Given the description of an element on the screen output the (x, y) to click on. 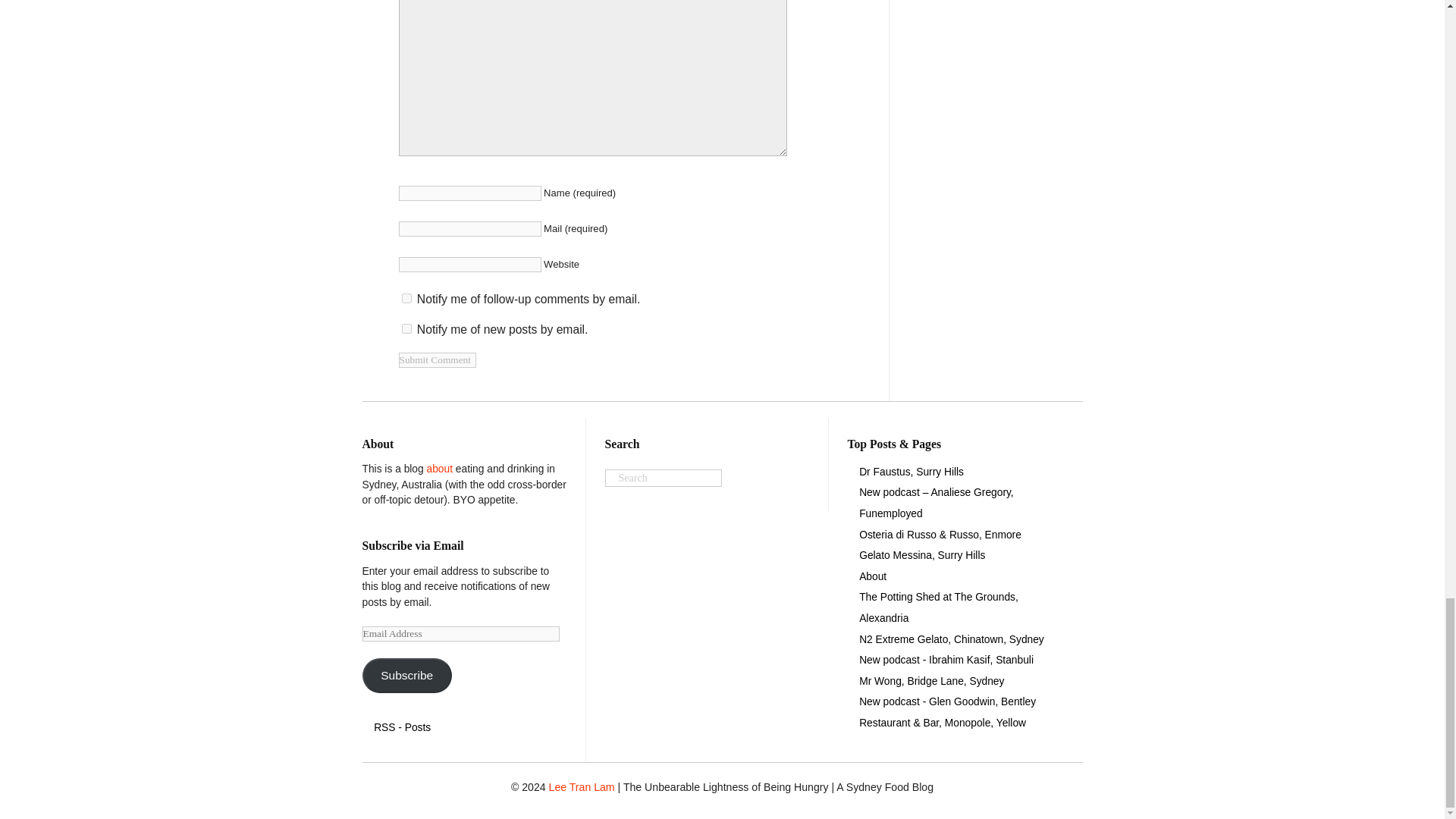
Submit Comment (437, 359)
Subscribe to posts (402, 727)
Submit Comment (437, 359)
subscribe (406, 298)
Search (663, 477)
subscribe (406, 328)
